Given the description of an element on the screen output the (x, y) to click on. 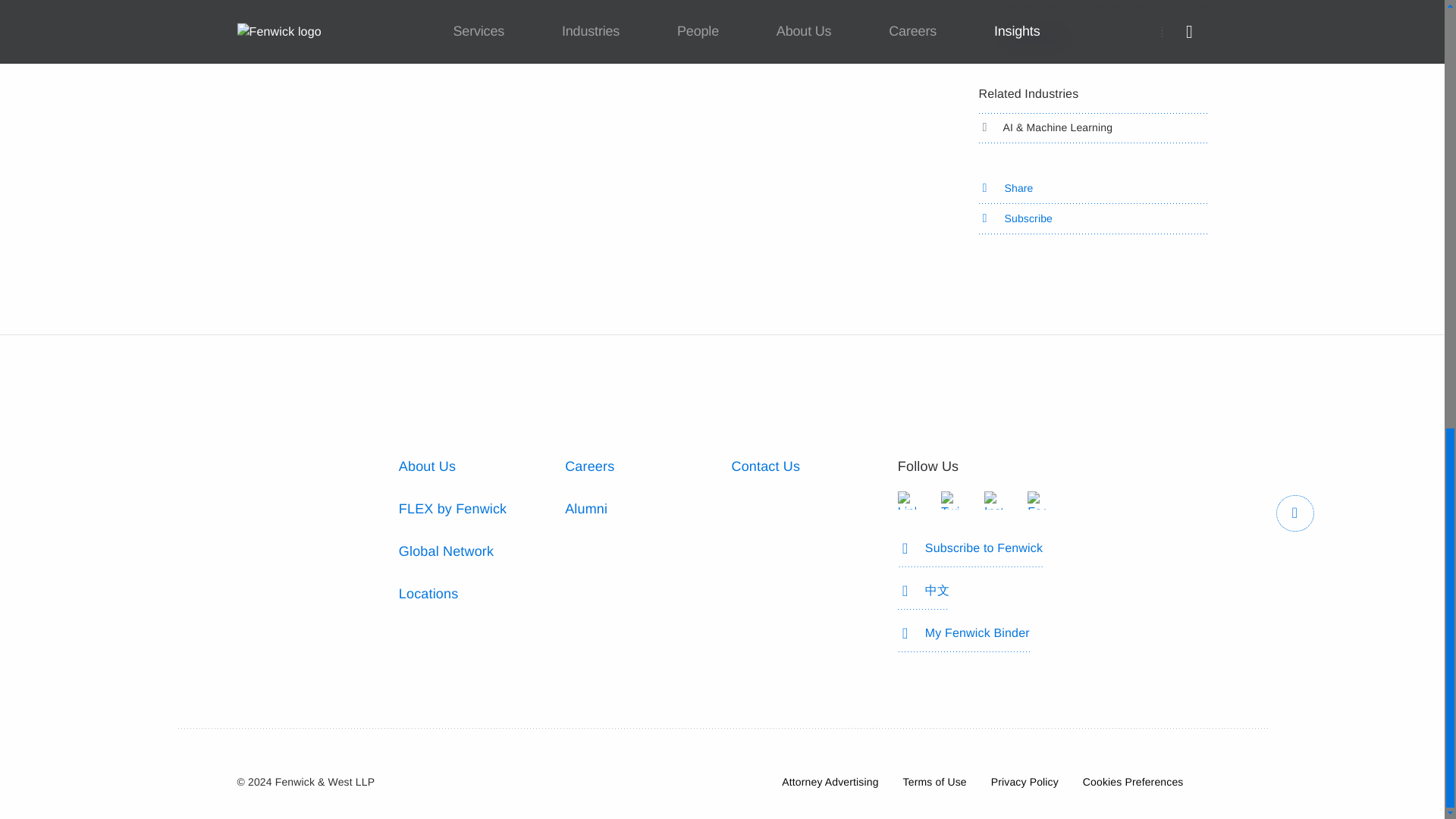
FLEX by Fenwick (452, 508)
Contact Us (764, 466)
Careers (589, 466)
Alumni (585, 508)
About Us (426, 466)
Locations (428, 593)
Global Network (445, 550)
